Given the description of an element on the screen output the (x, y) to click on. 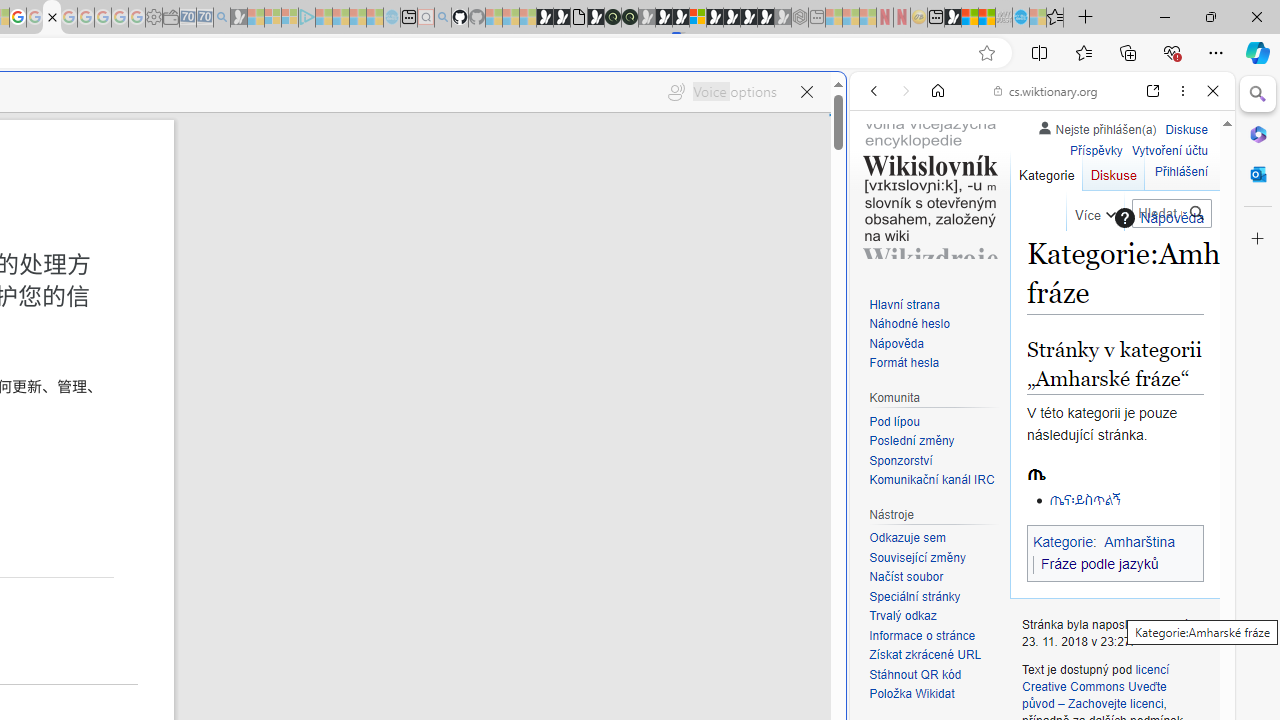
Kategorie (1046, 170)
Kategorie (1046, 170)
This site scope (936, 180)
